Given the description of an element on the screen output the (x, y) to click on. 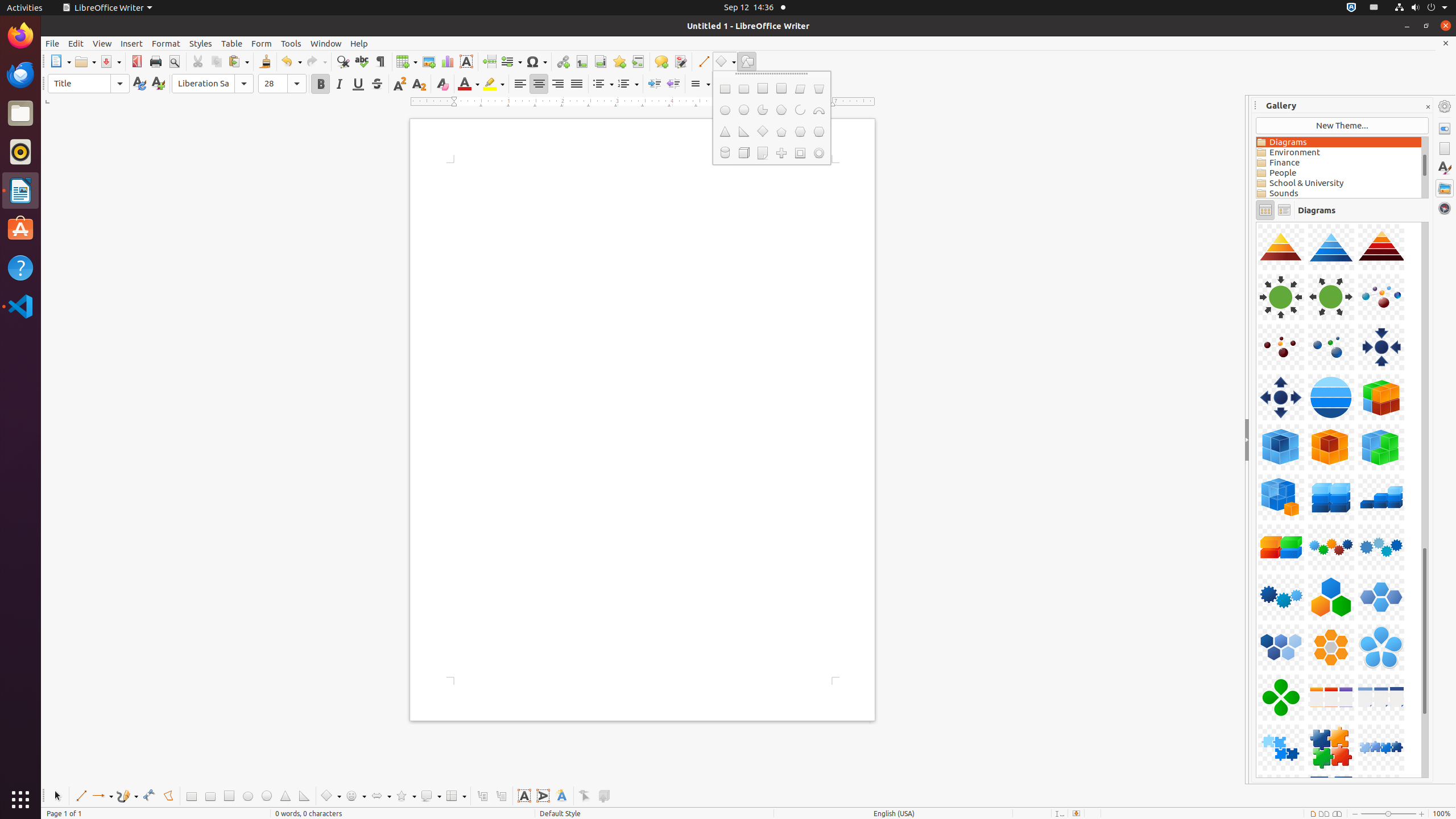
Underline Element type: push-button (357, 83)
Curves and Polygons Element type: push-button (126, 795)
Frame Element type: toggle-button (799, 153)
Diagrams Element type: list-item (1338, 142)
:1.72/StatusNotifierItem Element type: menu (1350, 7)
